Given the description of an element on the screen output the (x, y) to click on. 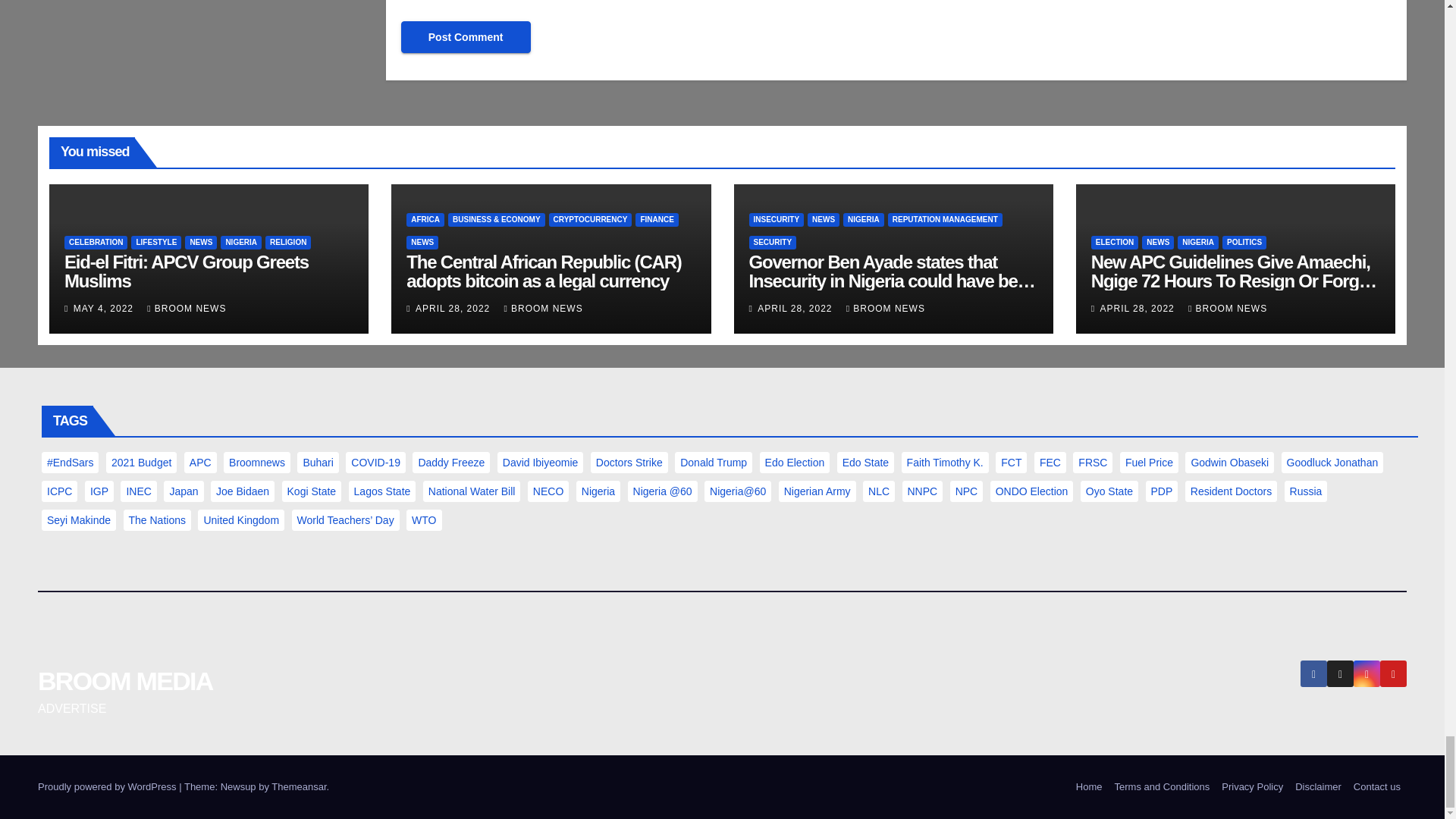
Post Comment (466, 37)
